Given the description of an element on the screen output the (x, y) to click on. 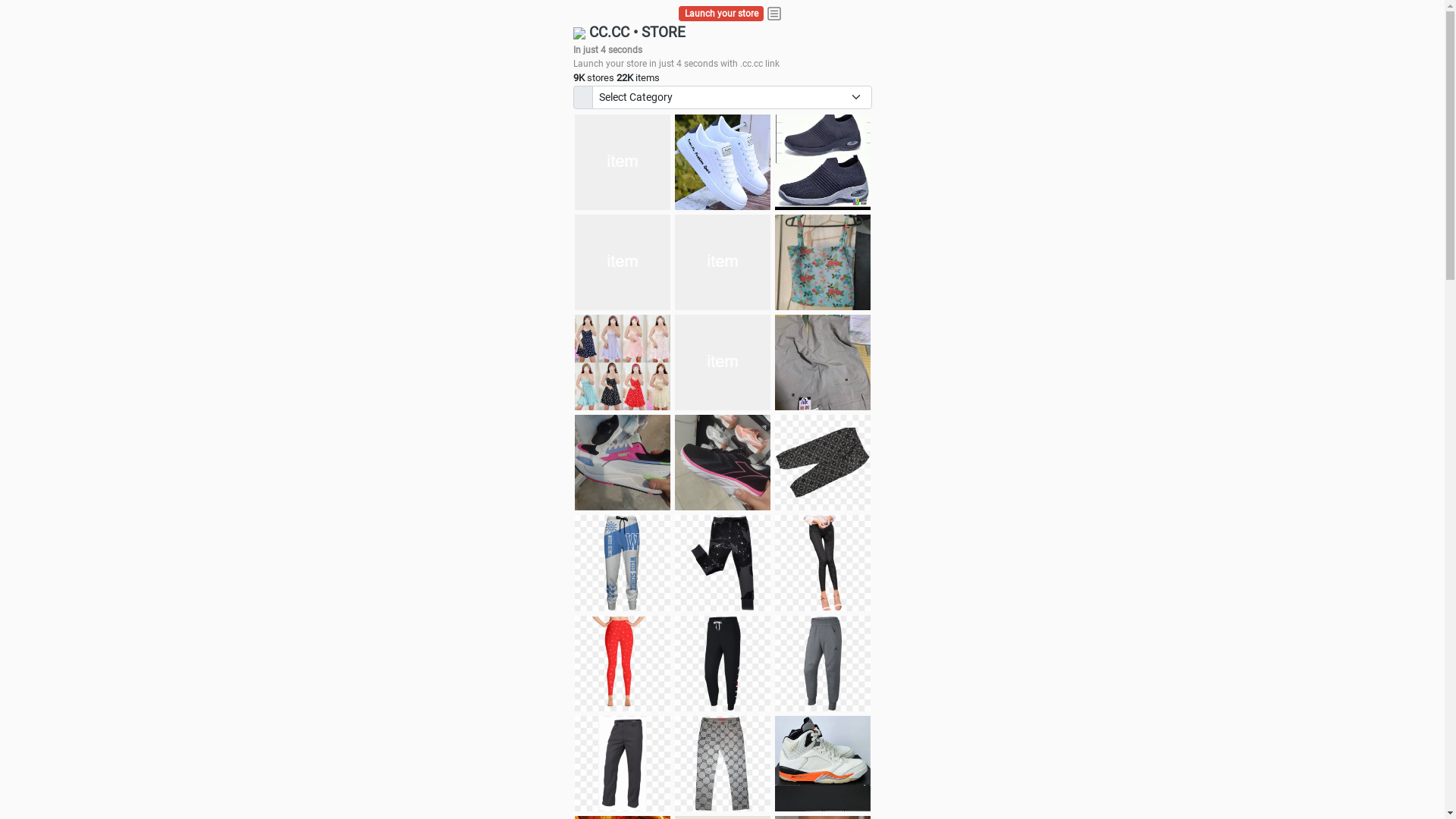
Pant Element type: hover (822, 663)
Pant Element type: hover (722, 562)
Things we need Element type: hover (722, 262)
Pant Element type: hover (722, 763)
jacket Element type: hover (622, 162)
Shoes Element type: hover (722, 362)
shoes for boys Element type: hover (822, 162)
Pant Element type: hover (722, 663)
Pant Element type: hover (622, 763)
white shoes Element type: hover (722, 162)
Short pant Element type: hover (822, 462)
Pant Element type: hover (622, 663)
Pant Element type: hover (822, 562)
Zapatillas pumas Element type: hover (622, 462)
Launch your store Element type: text (721, 13)
Dress/square nect top Element type: hover (622, 362)
Pant Element type: hover (622, 562)
Zapatillas Element type: hover (722, 462)
Shoes for boys Element type: hover (622, 262)
Ukay cloth Element type: hover (822, 262)
Shoe Element type: hover (822, 763)
